Given the description of an element on the screen output the (x, y) to click on. 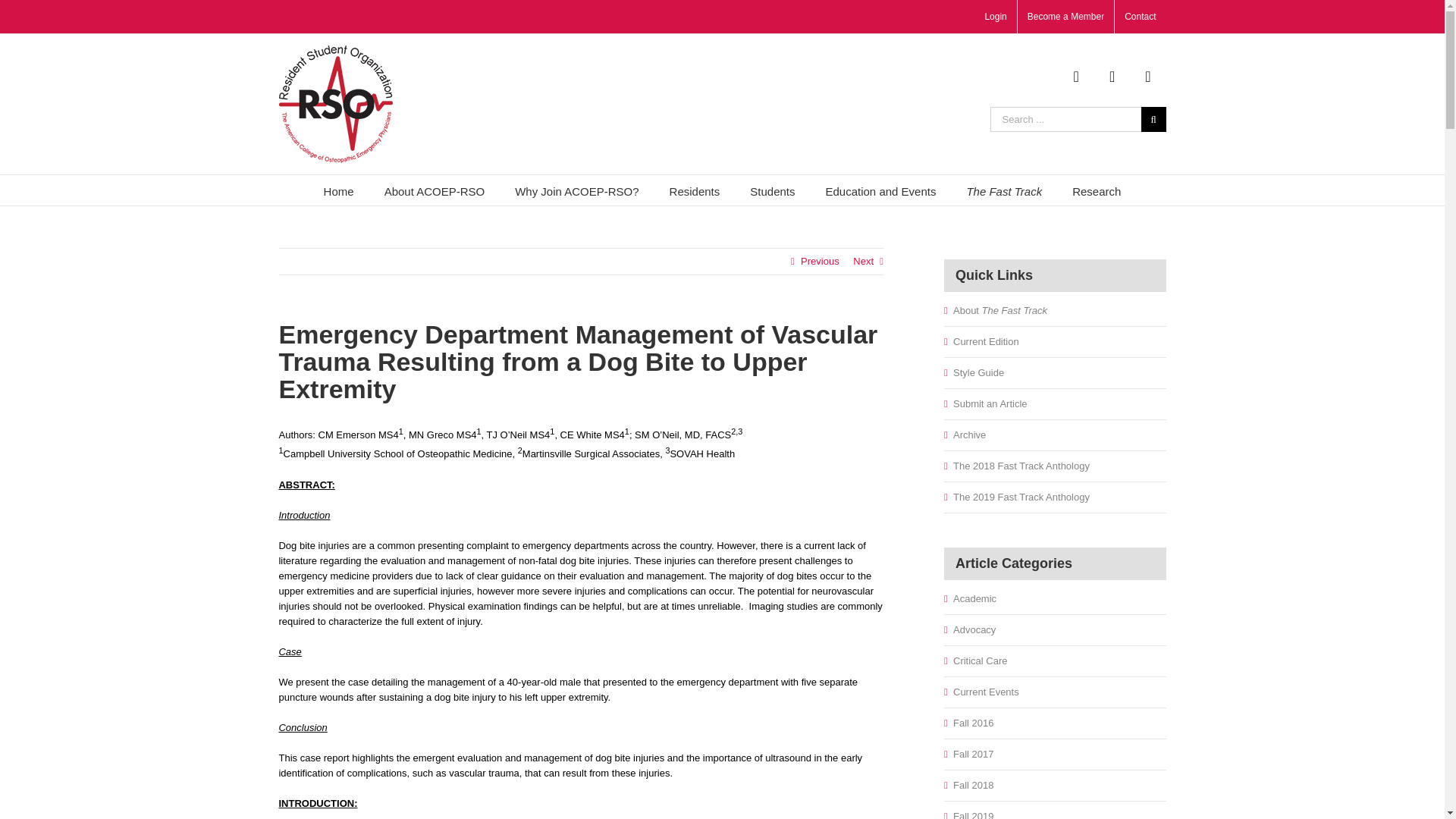
Residents (694, 190)
Home (338, 190)
About ACOEP-RSO (434, 190)
Why Join ACOEP-RSO? (577, 190)
Contact (1140, 16)
Become a Member (1065, 16)
Students (771, 190)
Login (995, 16)
